Given the description of an element on the screen output the (x, y) to click on. 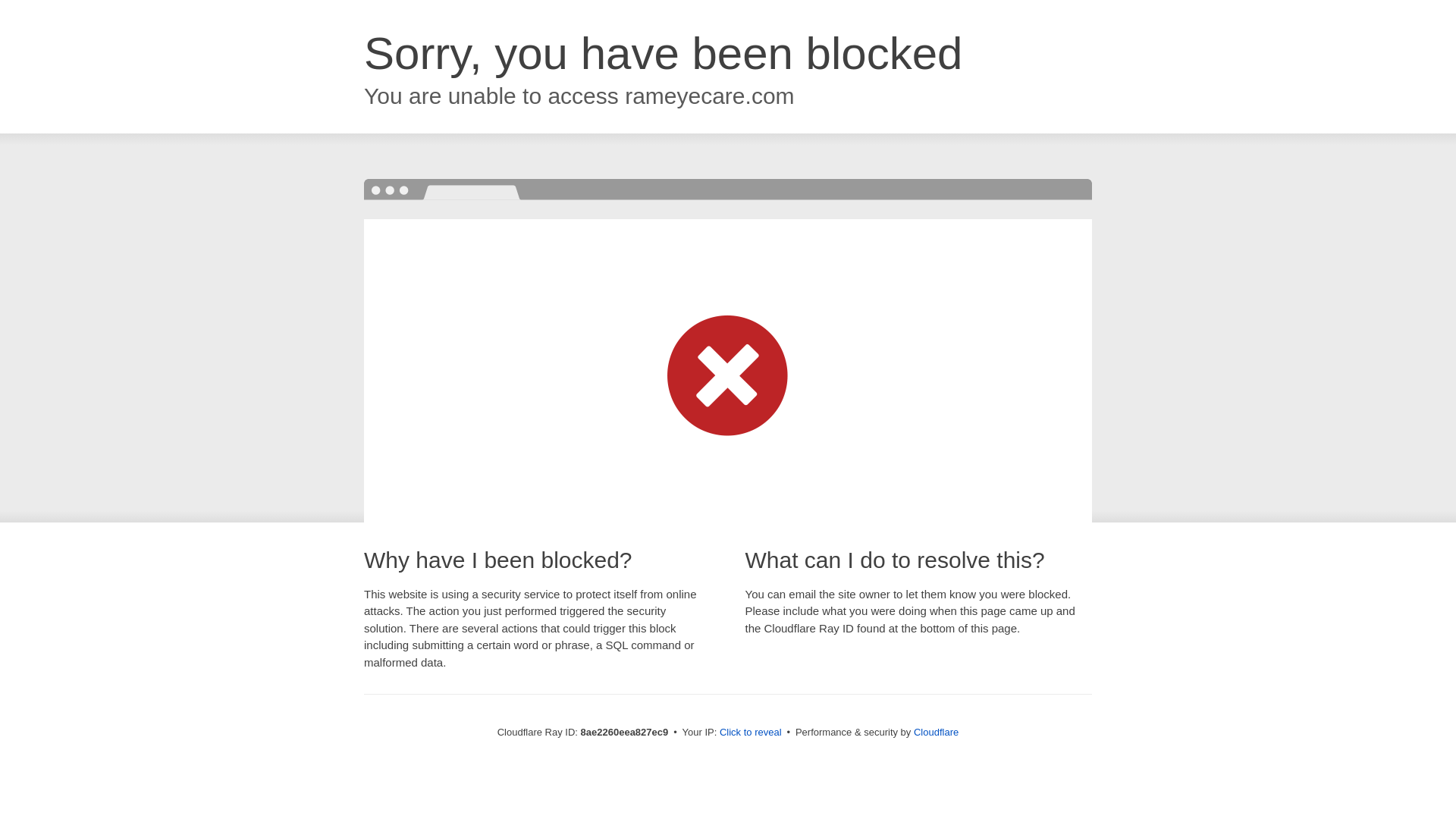
Cloudflare (936, 731)
Click to reveal (750, 732)
